Given the description of an element on the screen output the (x, y) to click on. 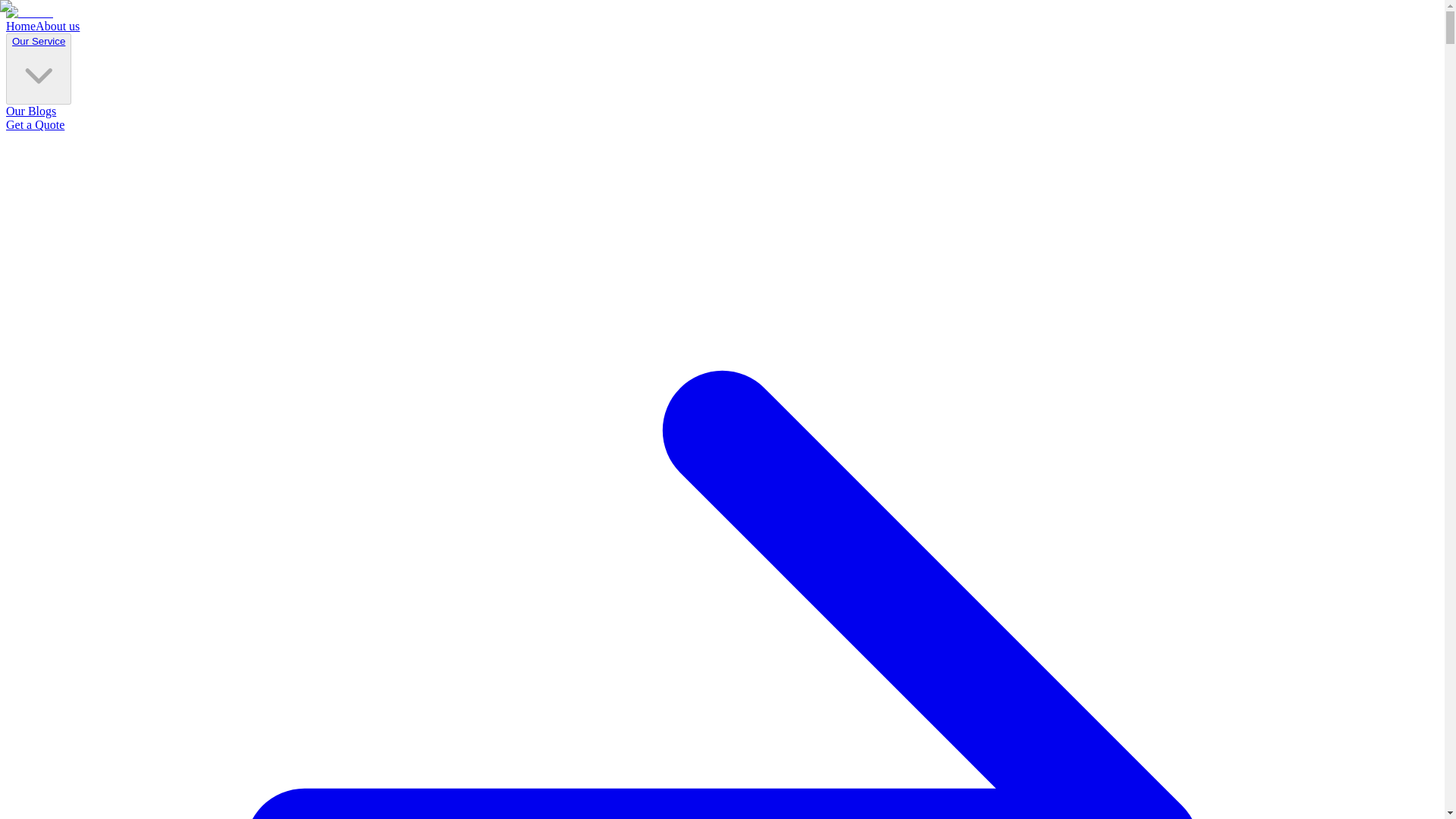
About us (57, 25)
Home (19, 25)
Our Service (38, 68)
Our Service (38, 41)
Our Blogs (30, 110)
